Given the description of an element on the screen output the (x, y) to click on. 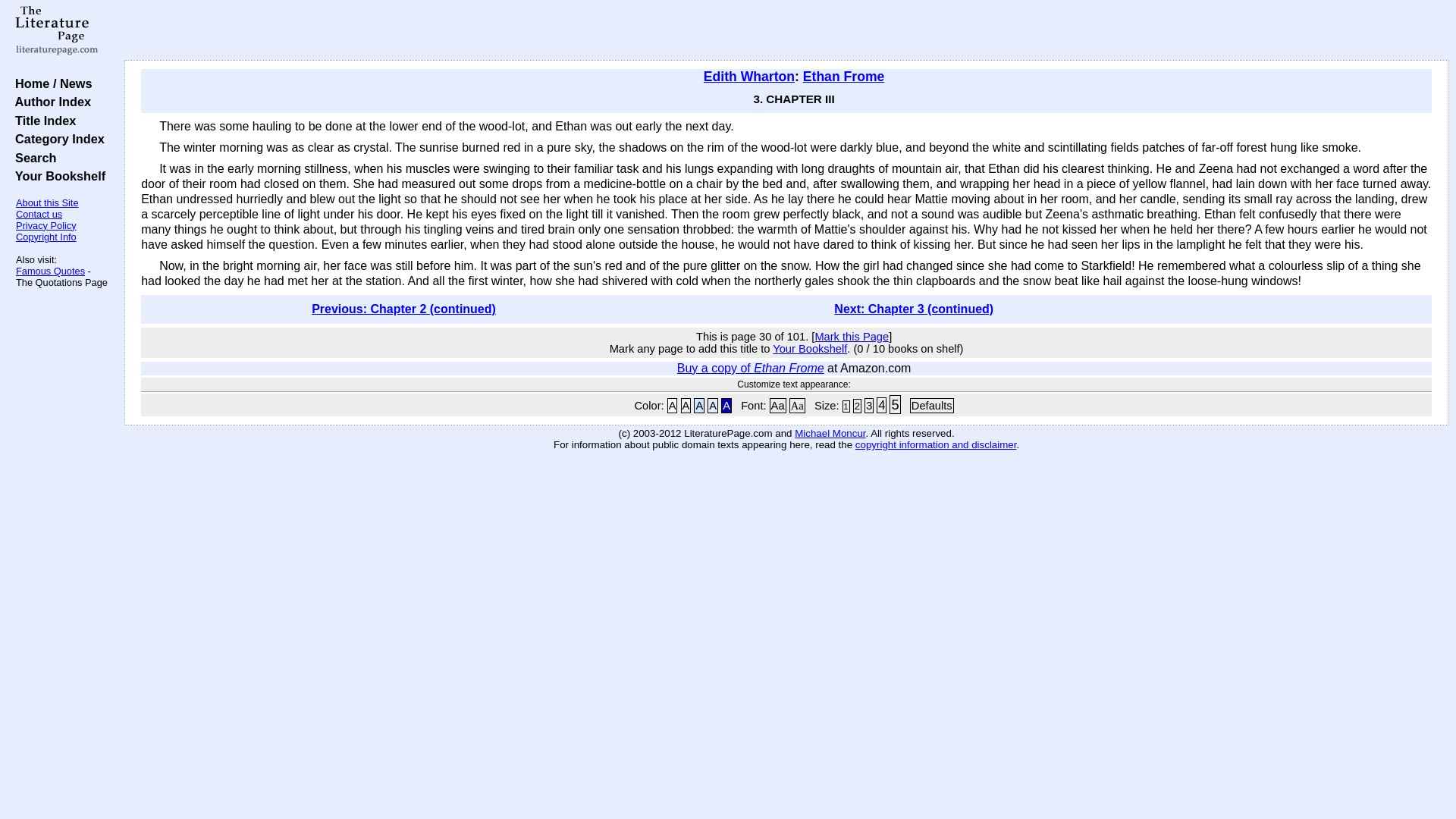
Serif (797, 405)
Reset to Defaults (931, 405)
Ethan Frome (844, 76)
Privacy Policy (46, 225)
Contact us (39, 214)
Mark this Page (850, 336)
About this Site (47, 202)
  Search (32, 157)
Famous Quotes (50, 270)
Michael Moncur (829, 432)
